Given the description of an element on the screen output the (x, y) to click on. 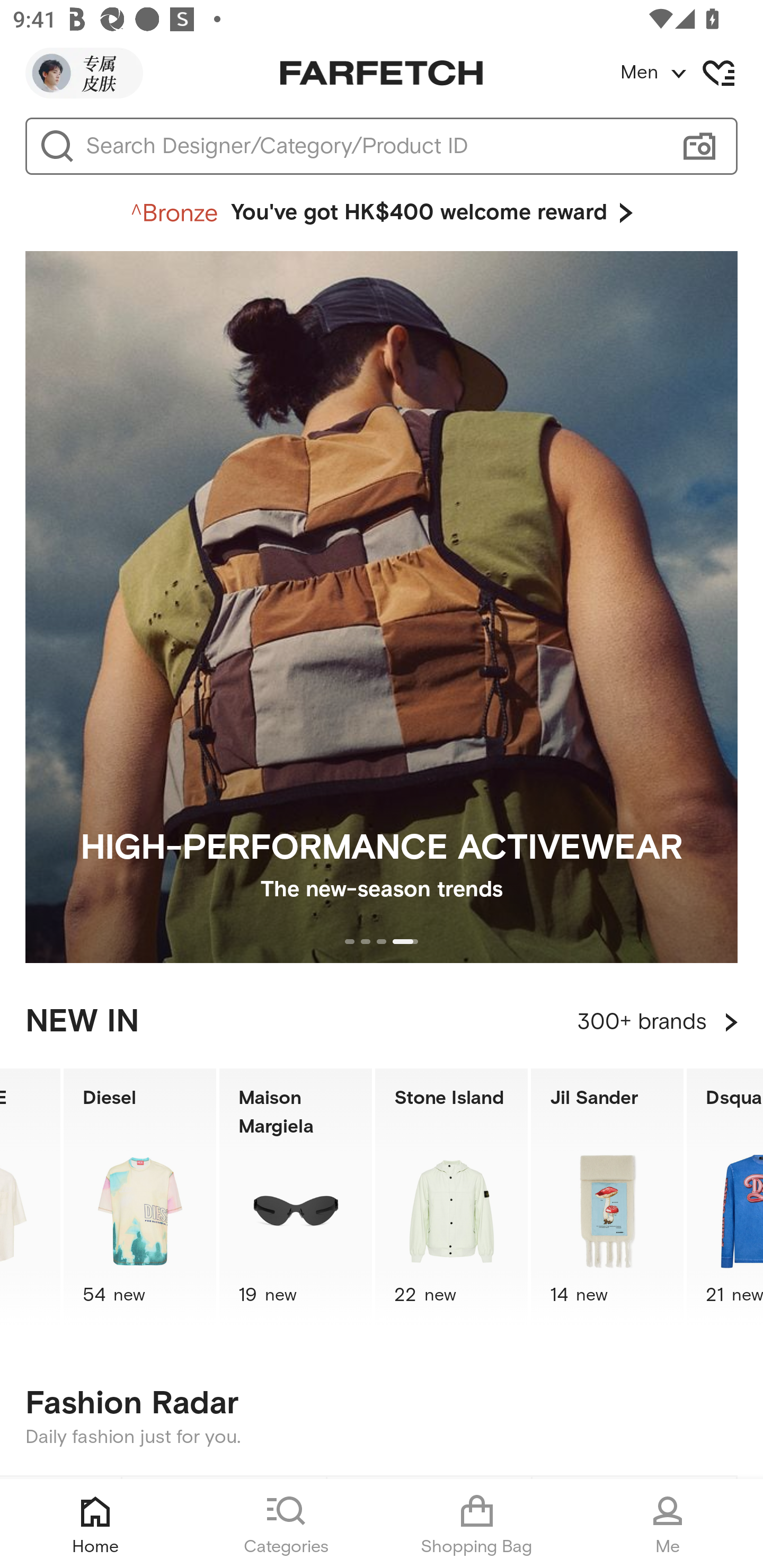
Men (691, 72)
Search Designer/Category/Product ID (373, 146)
You've got HK$400 welcome reward (381, 213)
NEW IN 300+ brands (381, 1021)
Diesel 54  new (139, 1196)
Maison Margiela 19  new (295, 1196)
Stone Island 22  new (451, 1196)
Jil Sander 14  new (607, 1196)
Categories (285, 1523)
Shopping Bag (476, 1523)
Me (667, 1523)
